Given the description of an element on the screen output the (x, y) to click on. 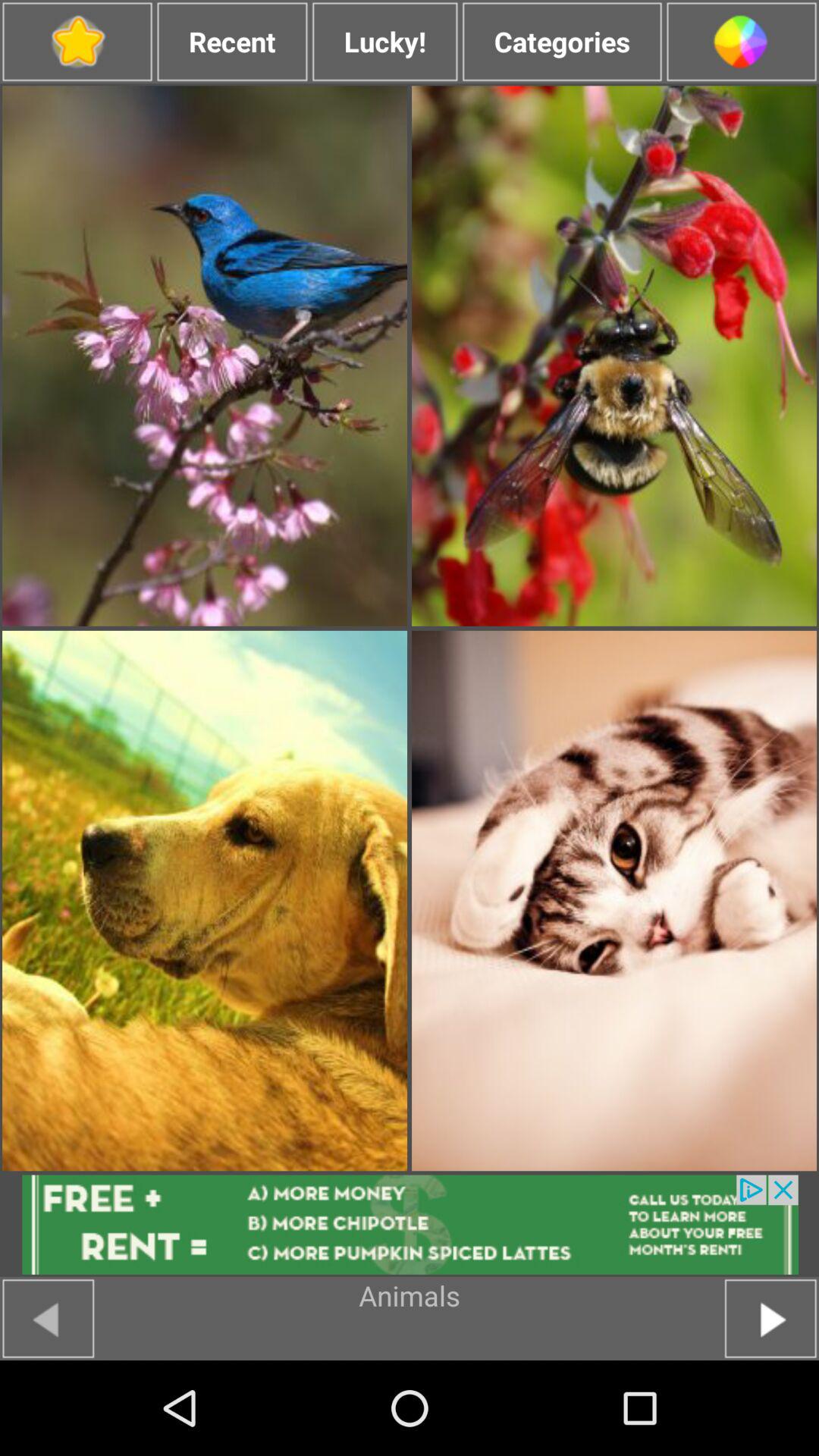
select the image (613, 355)
